Given the description of an element on the screen output the (x, y) to click on. 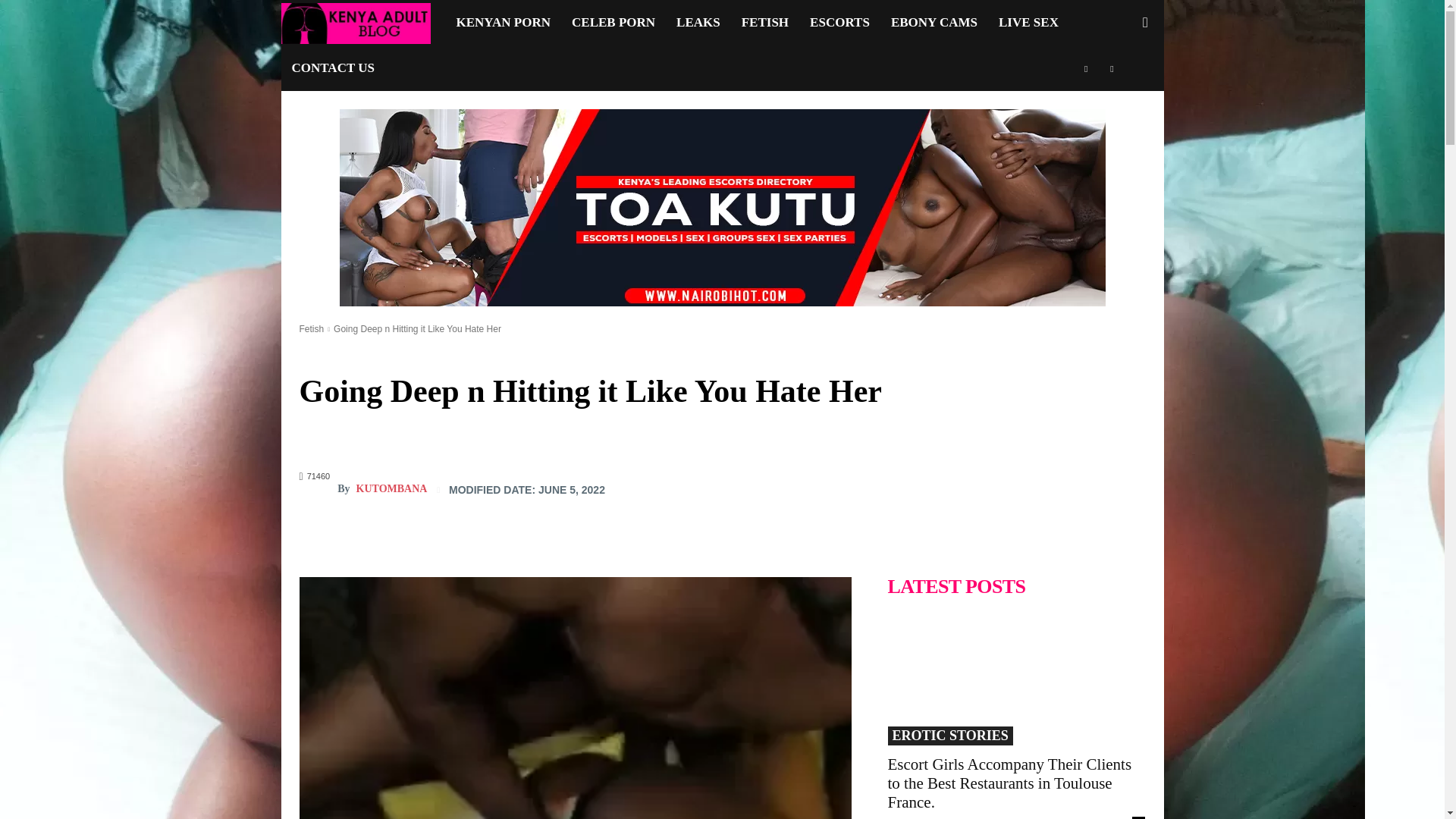
View all posts in Fetish (310, 328)
FETISH (764, 22)
CELEB PORN (612, 22)
KENYAN PORN (503, 22)
Kenya Adult Blog (363, 22)
Search (1121, 87)
CONTACT US (332, 67)
LIVE SEX (1028, 22)
Fetish (310, 328)
Kenya Porn Site (355, 22)
